Given the description of an element on the screen output the (x, y) to click on. 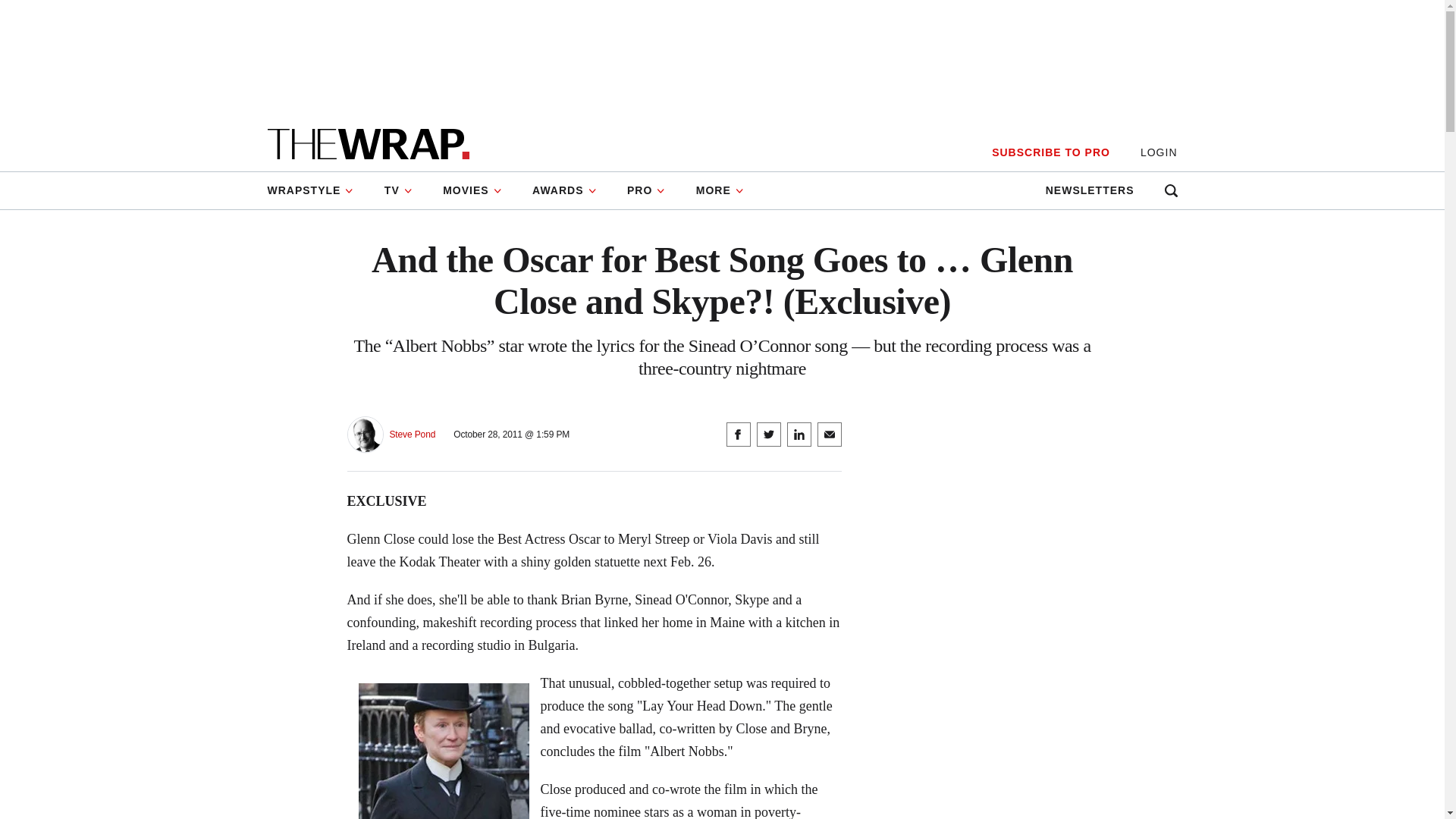
PRO (646, 190)
MORE (719, 190)
AWARDS (563, 190)
MOVIES (472, 190)
SUBSCRIBE TO PRO (1050, 152)
LOGIN (1158, 152)
TV (398, 190)
WRAPSTYLE (317, 190)
Posts by Steve Pond (412, 434)
